Given the description of an element on the screen output the (x, y) to click on. 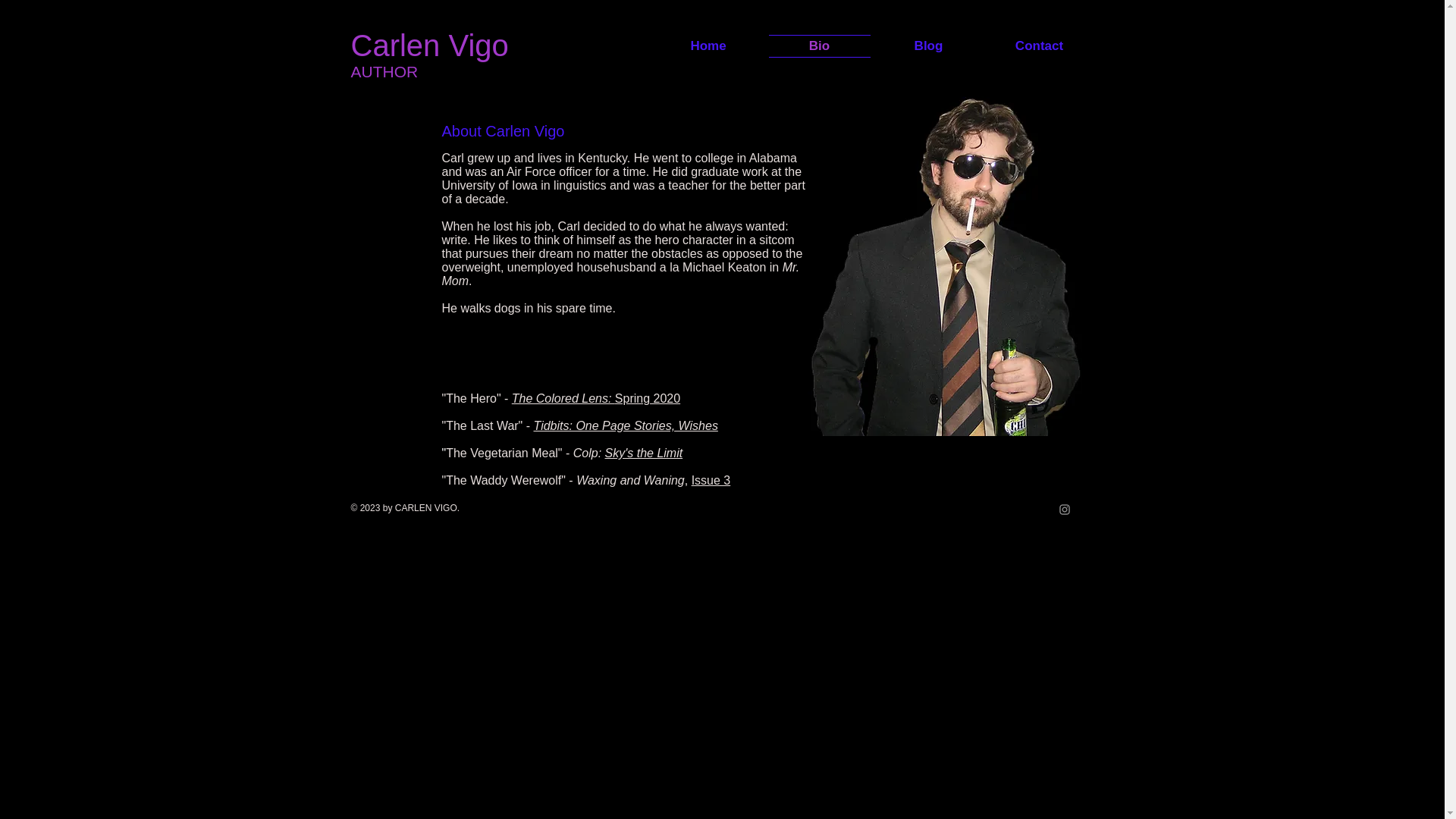
Bio (818, 46)
Contact (1036, 46)
Issue 3 (710, 480)
Tidbits: One Page Stories, Wishes (625, 425)
Sky's the Limit (643, 452)
The Colored Lens: Spring 2020 (595, 398)
Blog (927, 46)
Home (709, 46)
